Given the description of an element on the screen output the (x, y) to click on. 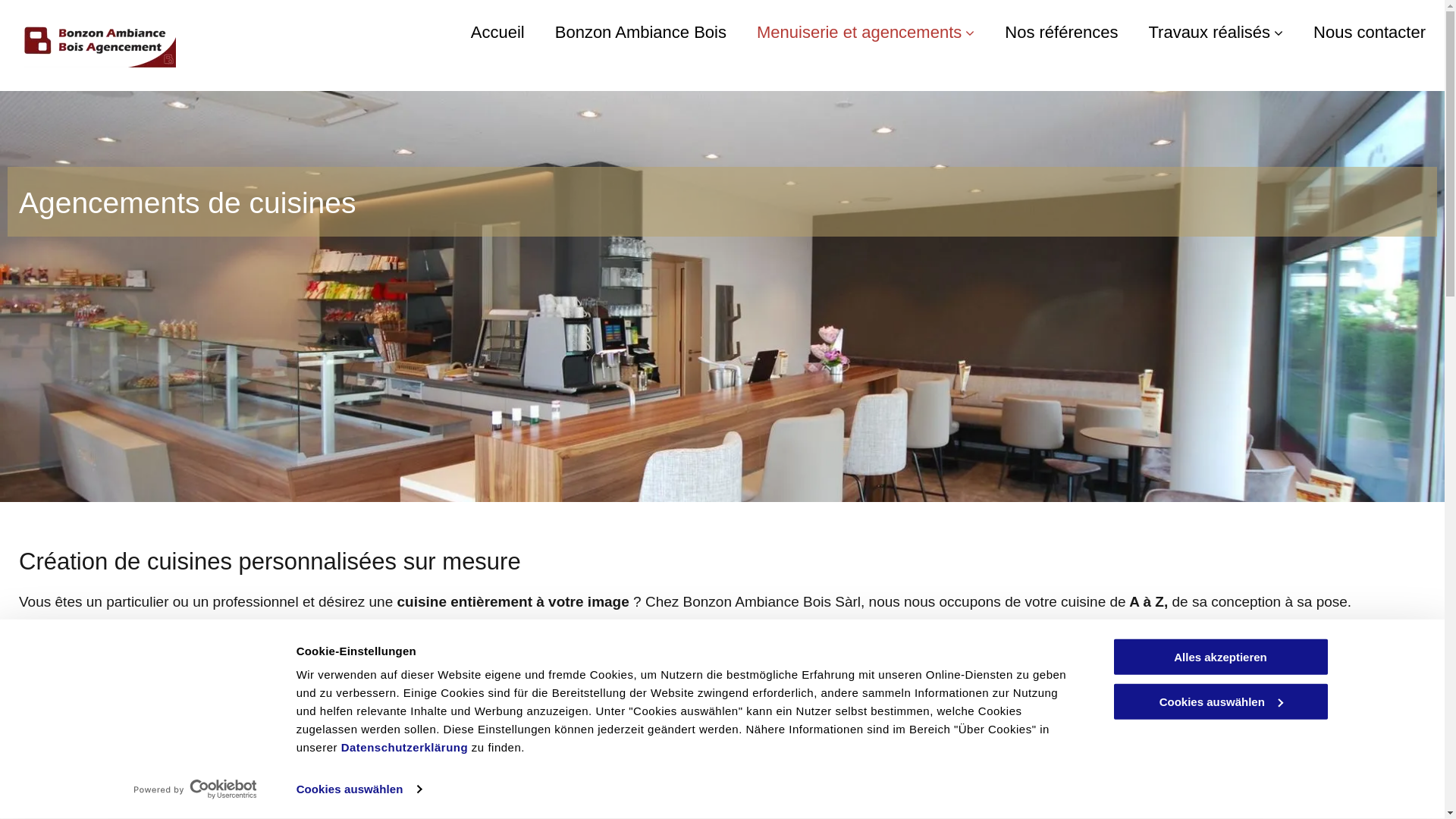
Bonzon Ambiance Bois Element type: text (640, 32)
Alles akzeptieren Element type: text (1219, 656)
Accueil Element type: text (497, 32)
Menuiserie et agencements Element type: text (865, 32)
Nous contacter Element type: text (1369, 32)
